Given the description of an element on the screen output the (x, y) to click on. 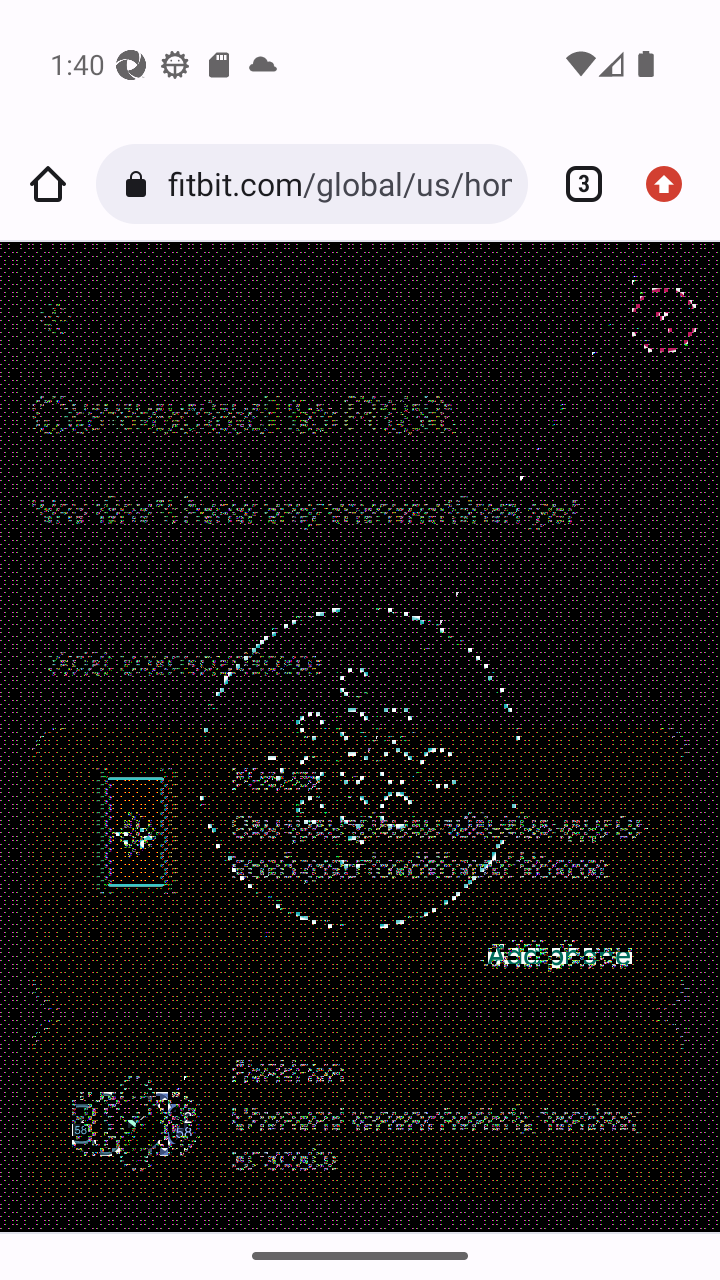
Home (47, 184)
Connection is secure (139, 184)
Switch or close tabs (575, 184)
Update available. More options (672, 184)
fitbit.com/global/us/home (339, 184)
